Given the description of an element on the screen output the (x, y) to click on. 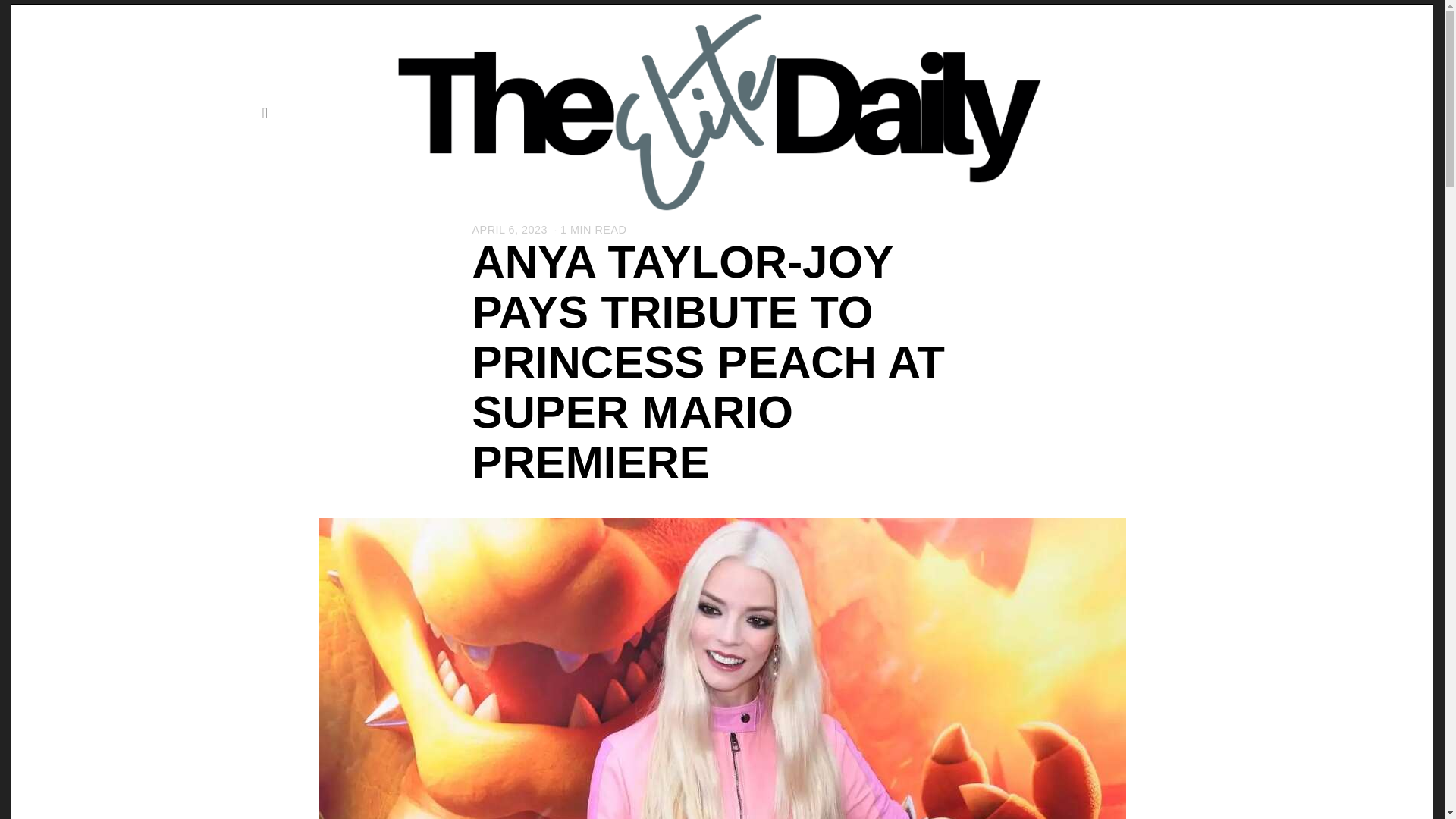
Go (265, 112)
